Given the description of an element on the screen output the (x, y) to click on. 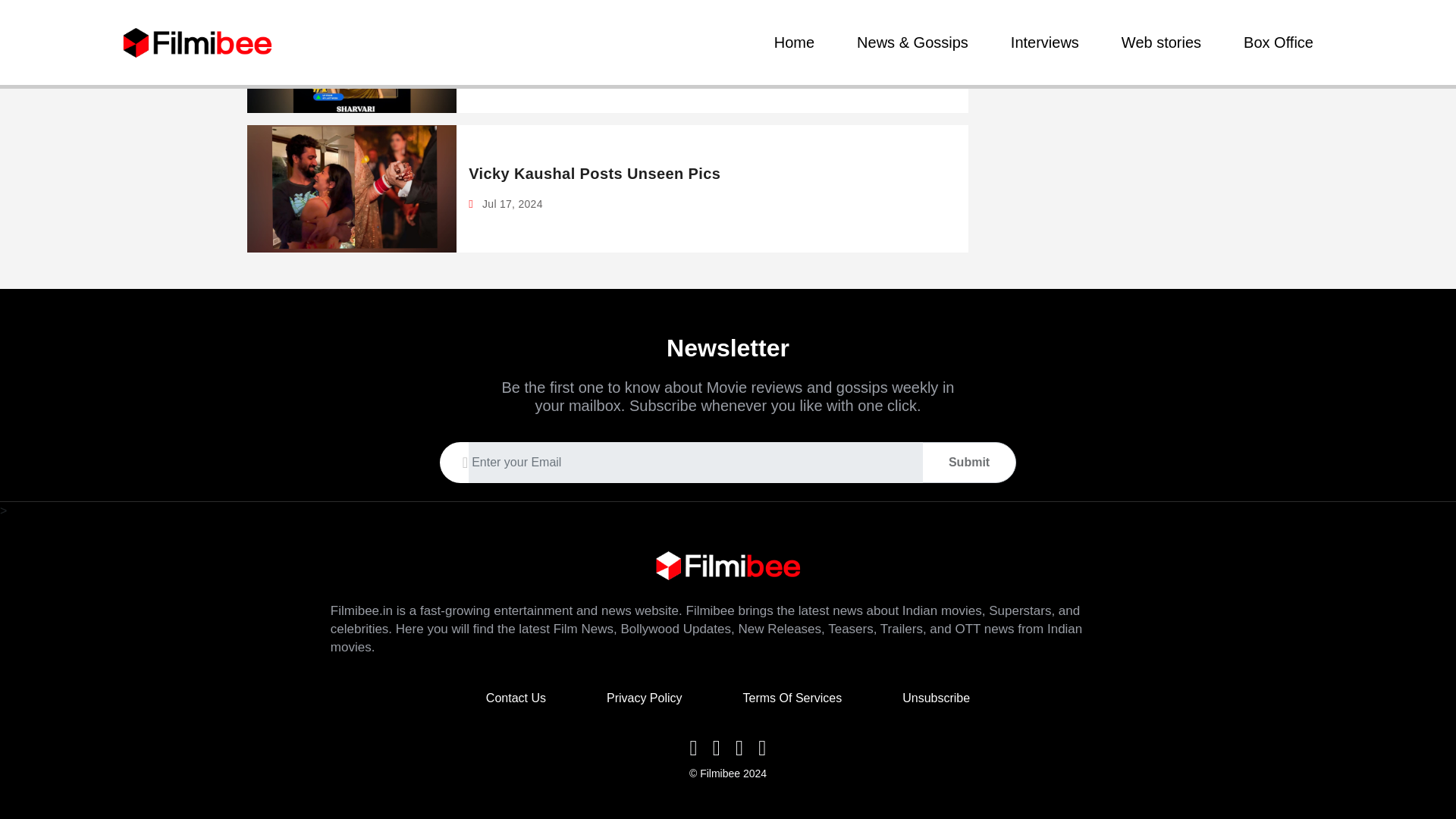
Privacy Policy (644, 698)
Terms Of Services (792, 698)
Vicky Kaushal Posts Unseen Pics (594, 173)
Contact Us (516, 698)
Vicky Kaushal Posts Unseen Pics (594, 173)
Submit (968, 462)
Unsubscribe (935, 698)
